Given the description of an element on the screen output the (x, y) to click on. 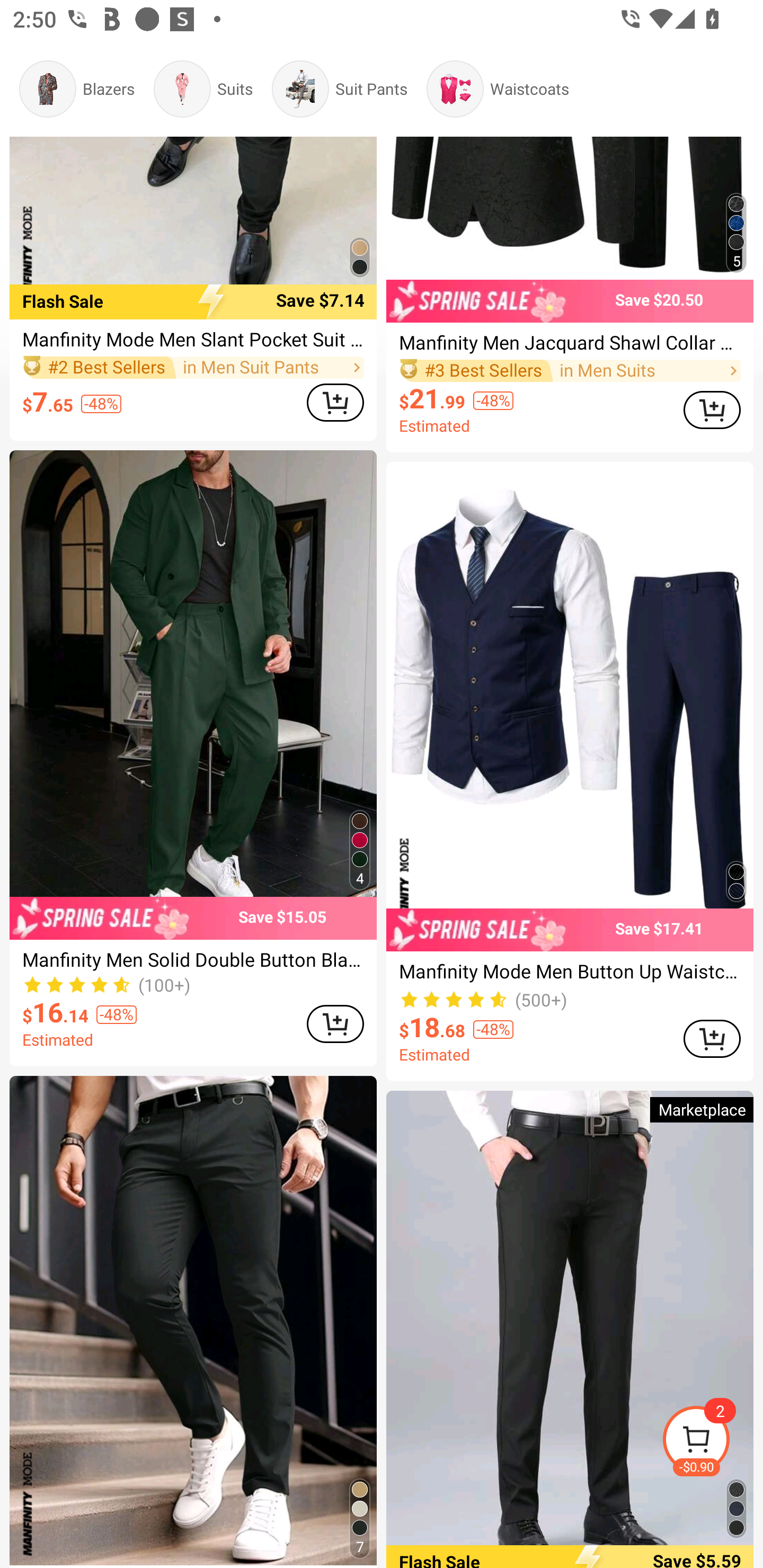
Blazers (76, 89)
Suits (202, 89)
Suit Pants (339, 89)
Waistcoats (497, 89)
#2 Best Sellers in Men Suit Pants (192, 367)
#3 Best Sellers in Men Suits (569, 370)
ADD TO CART (334, 402)
ADD TO CART (711, 409)
ADD TO CART (334, 1023)
ADD TO CART (711, 1038)
-$0.90 (712, 1441)
